Given the description of an element on the screen output the (x, y) to click on. 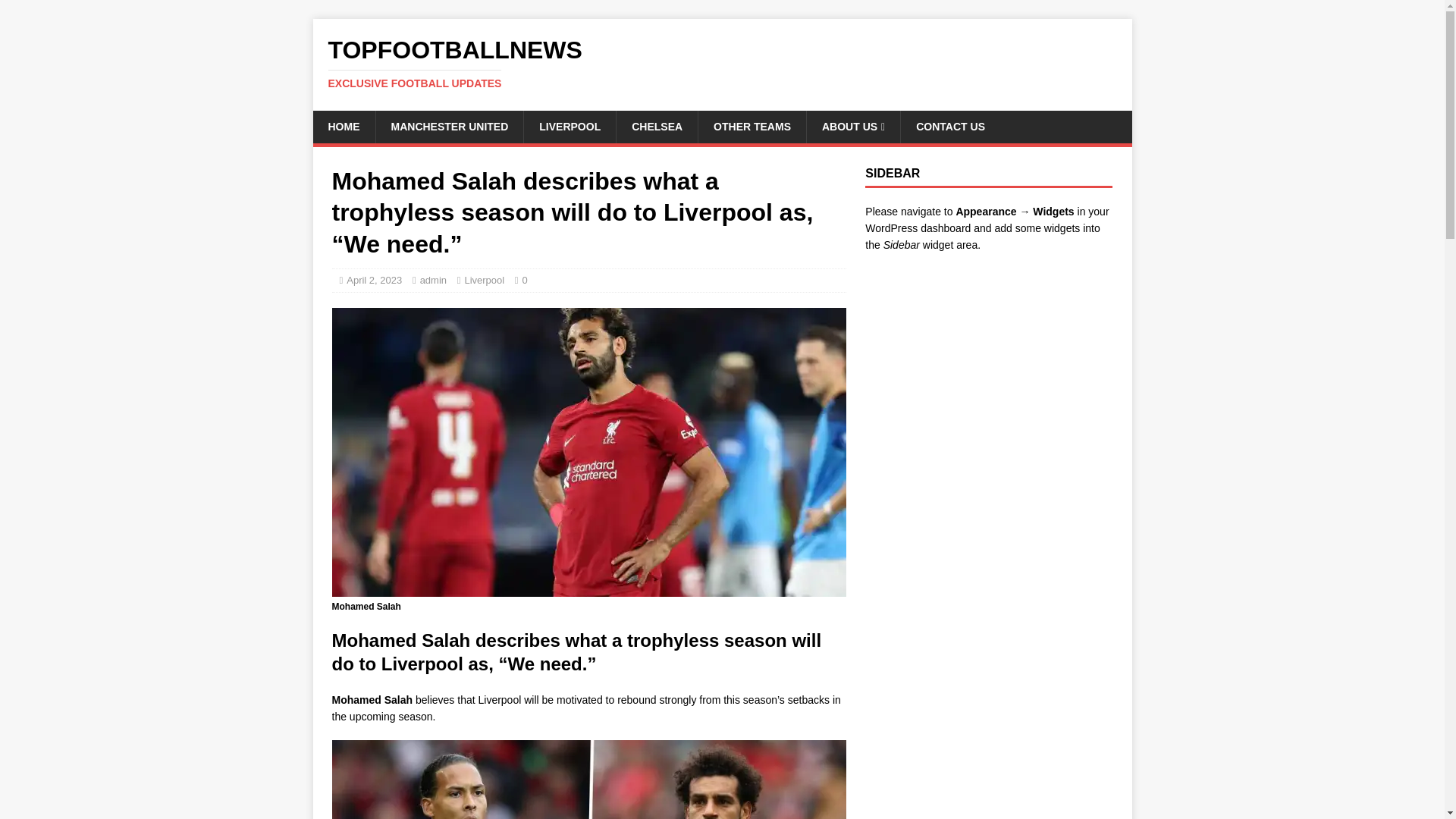
OTHER TEAMS (751, 126)
Liverpool (483, 279)
April 2, 2023 (373, 279)
CONTACT US (949, 126)
LIVERPOOL (568, 126)
MANCHESTER UNITED (448, 126)
ABOUT US (852, 126)
topfootballnews (721, 63)
CHELSEA (721, 63)
